Given the description of an element on the screen output the (x, y) to click on. 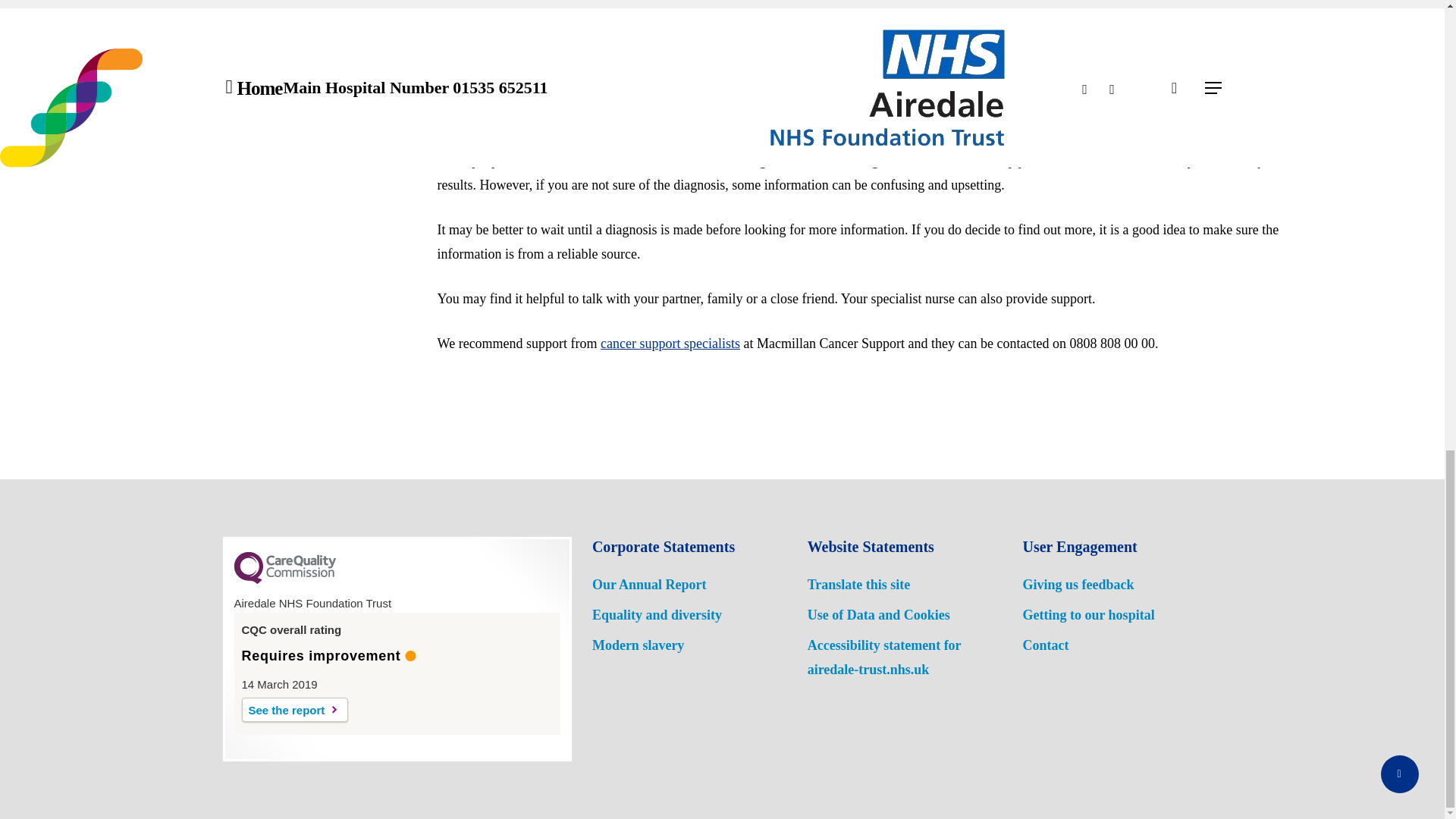
CQC Logo (283, 580)
